Given the description of an element on the screen output the (x, y) to click on. 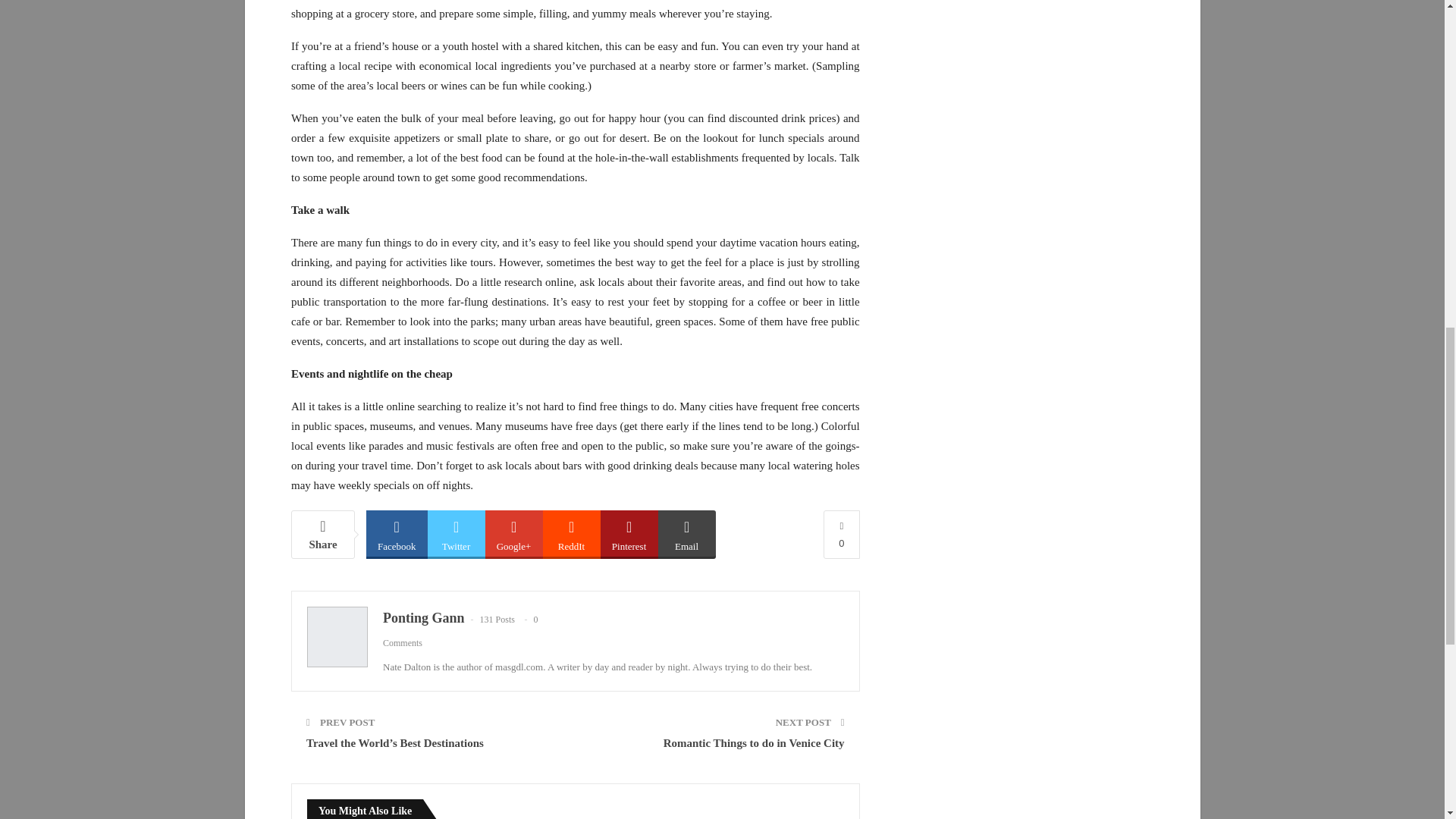
Twitter (456, 533)
Facebook (397, 533)
Pinterest (628, 533)
Ponting Gann (423, 617)
ReddIt (571, 533)
Email (687, 533)
